Given the description of an element on the screen output the (x, y) to click on. 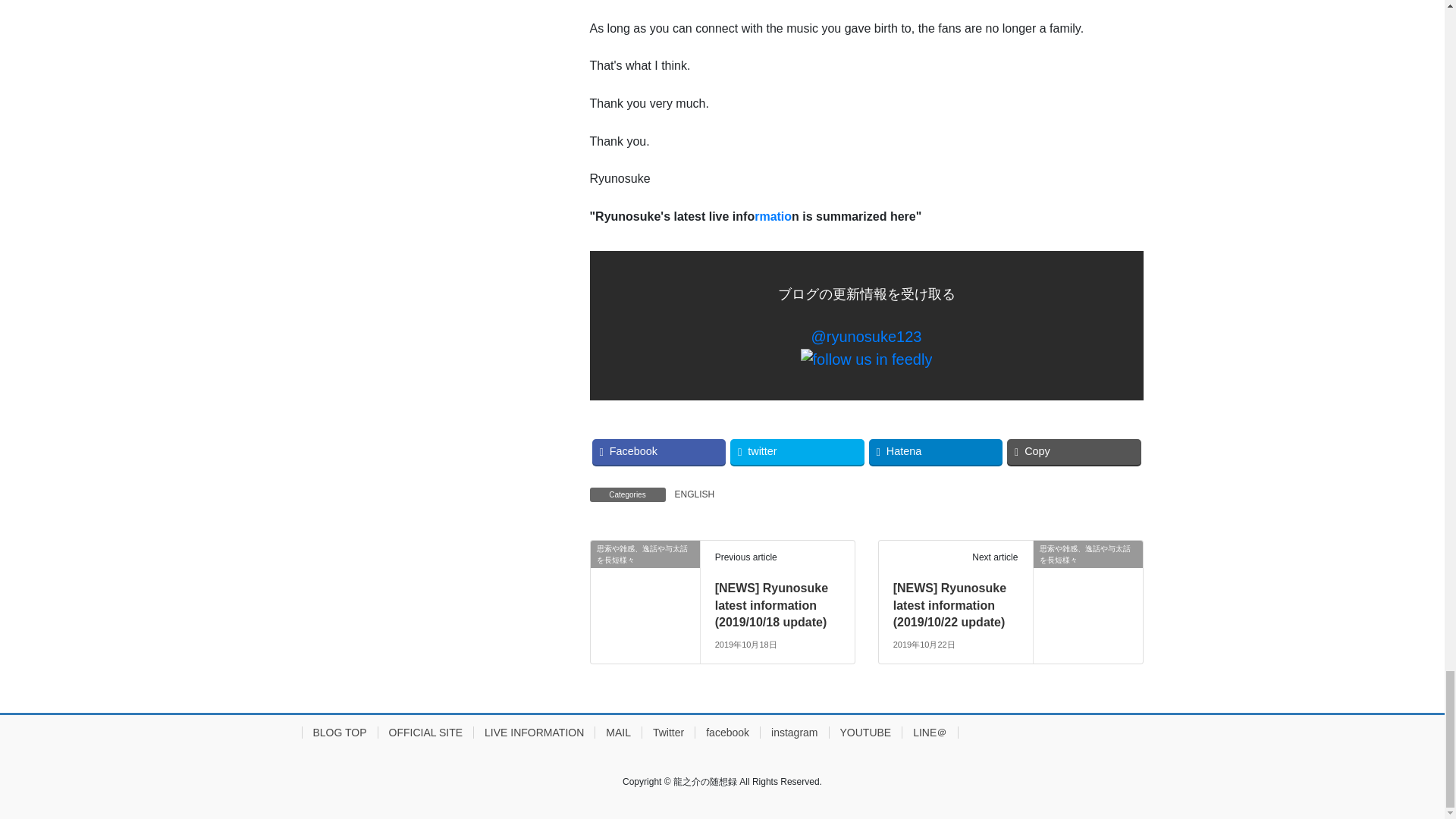
Hatena (936, 451)
Copy (1074, 451)
Facebook (658, 451)
rmatio (773, 215)
ENGLISH (694, 494)
twitter (797, 451)
